Given the description of an element on the screen output the (x, y) to click on. 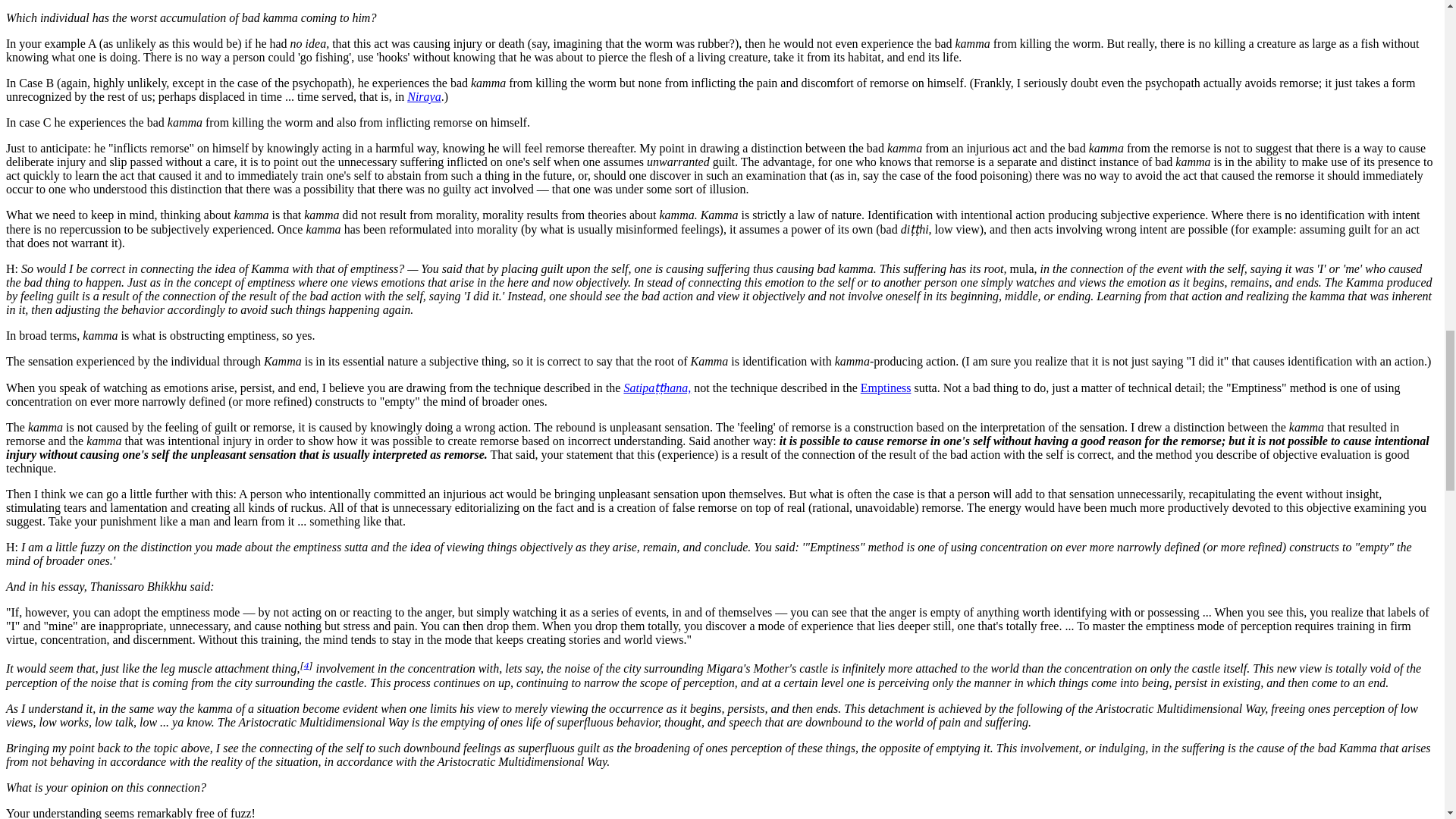
4 (306, 664)
Niraya (424, 96)
Emptiness (885, 387)
